Given the description of an element on the screen output the (x, y) to click on. 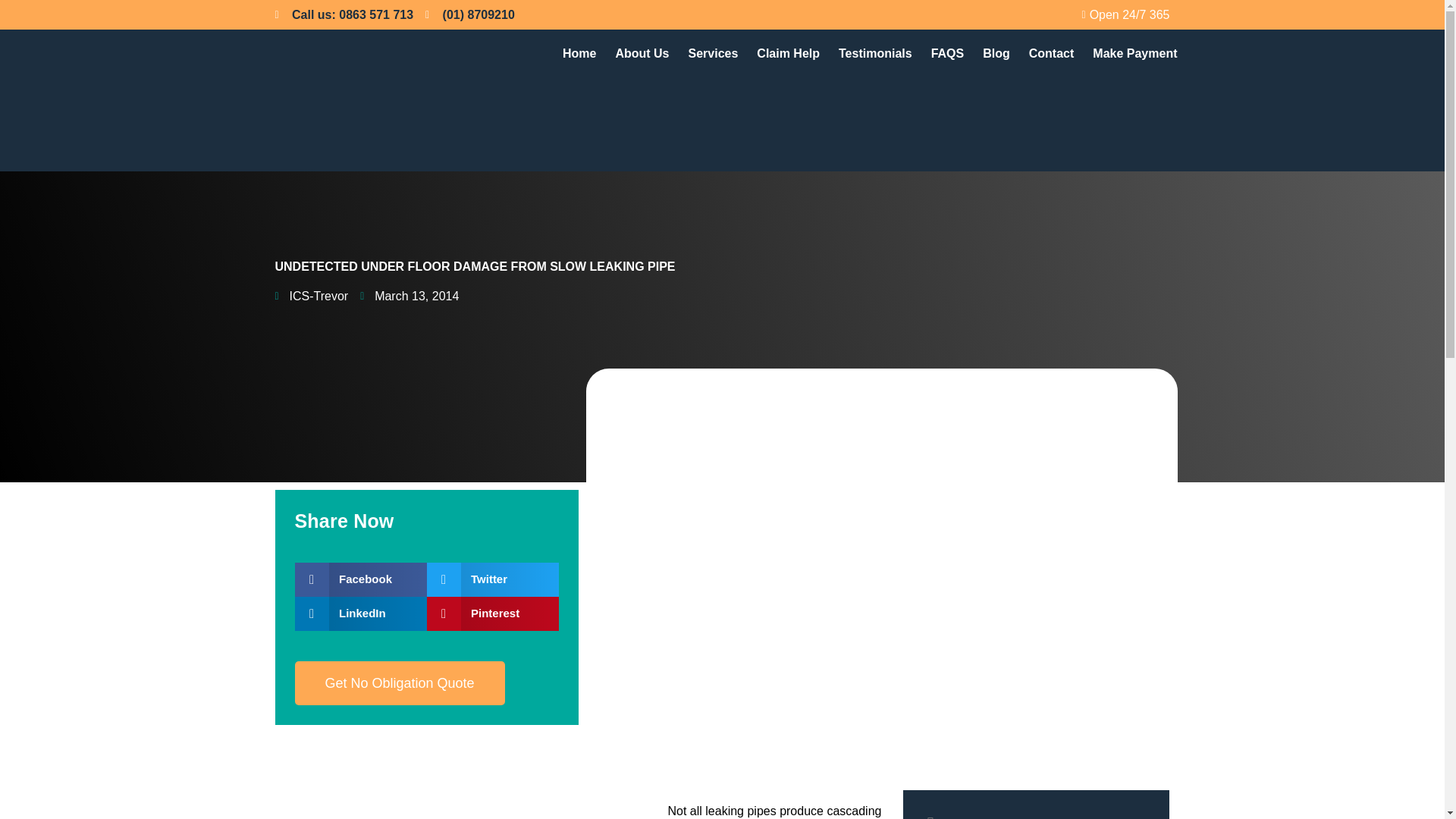
Testimonials (875, 53)
Call us: 0863 571 713 (344, 14)
Claim Help (788, 53)
Services (712, 53)
Make Payment (1134, 53)
About Us (641, 53)
FAQS (947, 53)
Home (578, 53)
Contact (1051, 53)
